Given the description of an element on the screen output the (x, y) to click on. 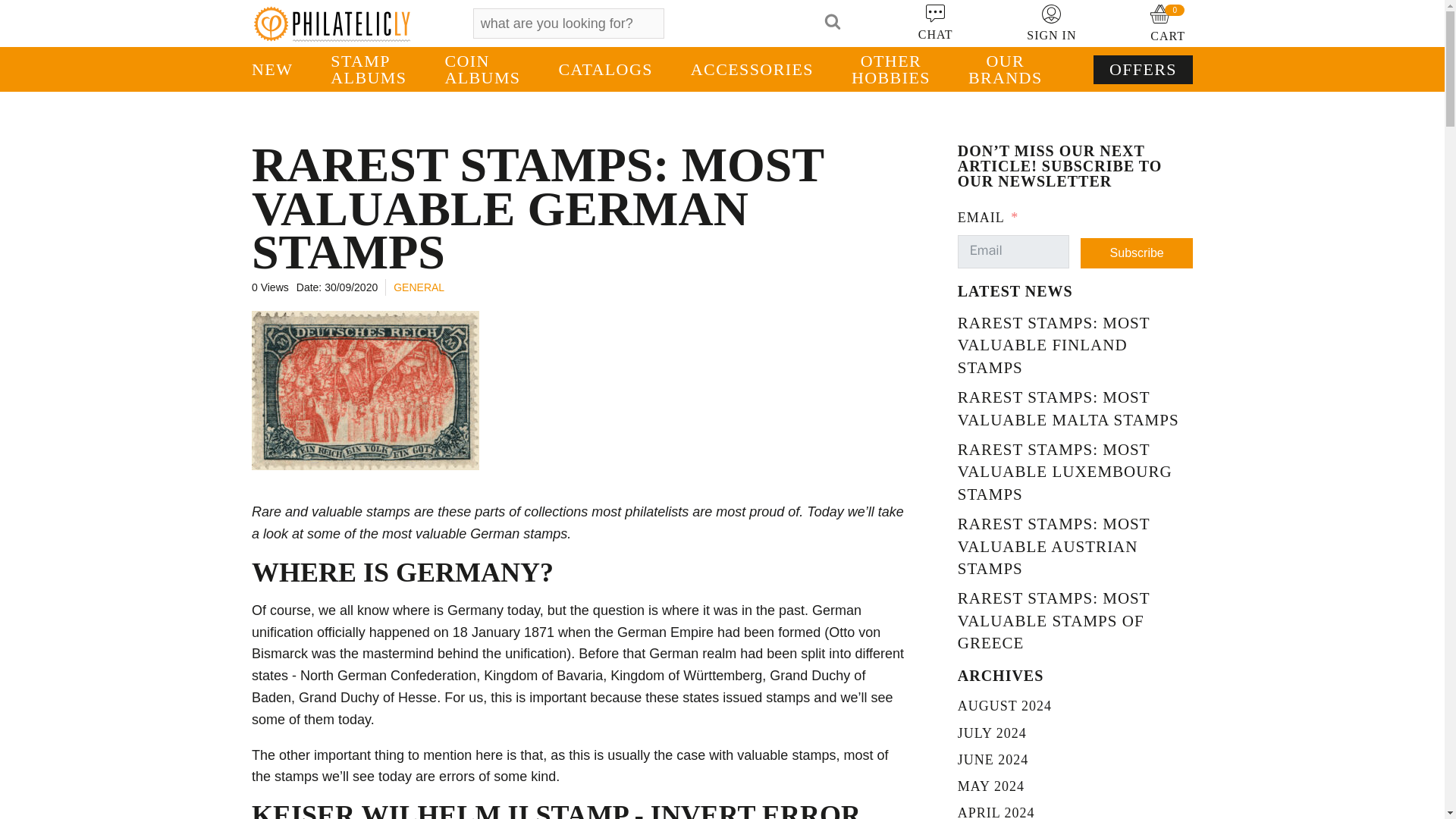
COIN ALBUMS (481, 69)
Search (703, 23)
STAMP ALBUMS (368, 69)
SIGN IN (1050, 22)
CHAT (935, 22)
NEW (281, 69)
Search (703, 23)
